Given the description of an element on the screen output the (x, y) to click on. 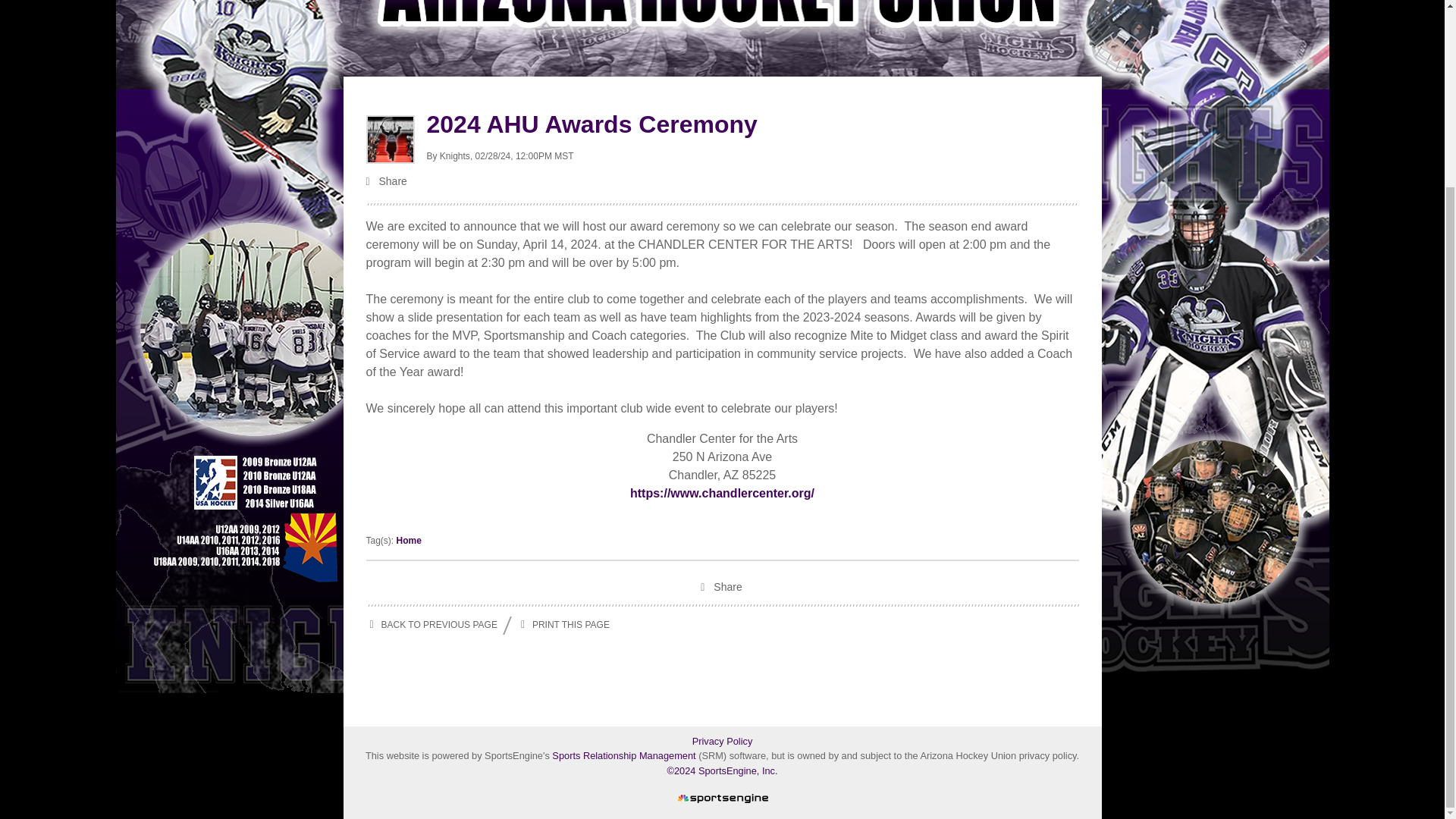
Share (721, 588)
Home (409, 540)
Sports Relationship Management (624, 755)
BACK TO PREVIOUS PAGE (430, 625)
PRINT THIS PAGE (563, 625)
Share (721, 182)
